Given the description of an element on the screen output the (x, y) to click on. 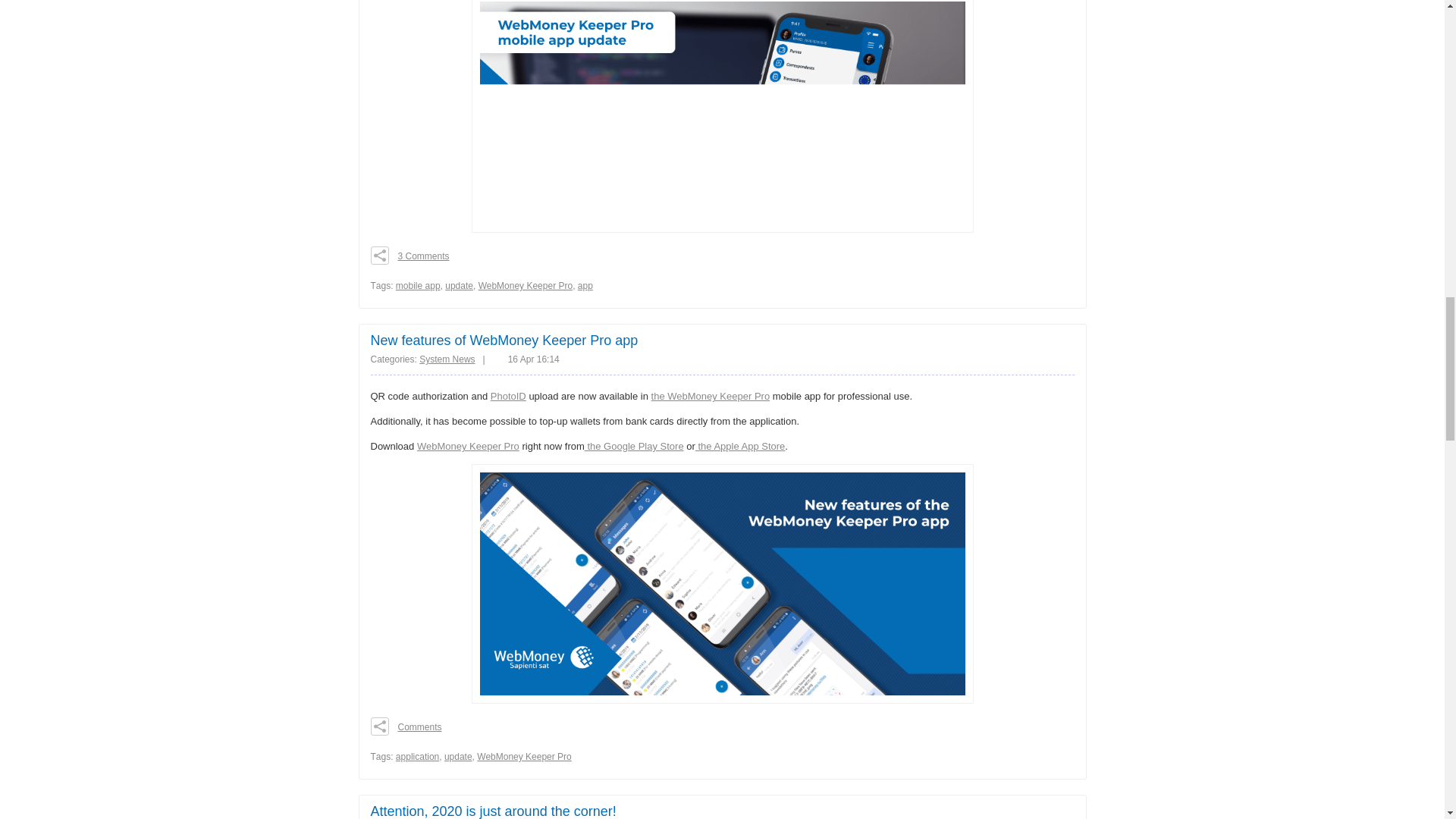
Attention, 2020 is just around the corner! (492, 811)
New features of WebMoney Keeper Pro app (503, 340)
